Given the description of an element on the screen output the (x, y) to click on. 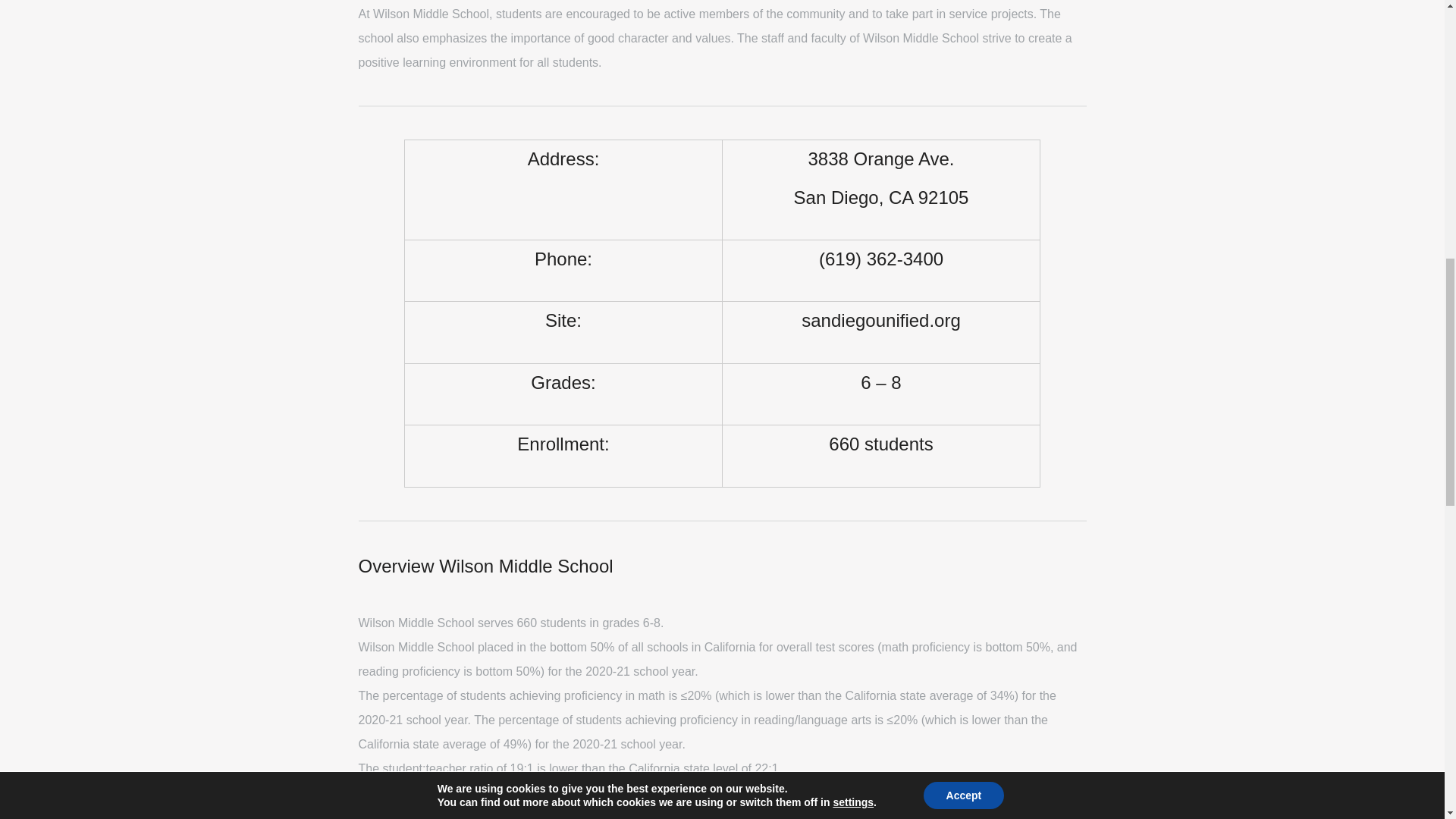
sandiegounified.org (881, 320)
